Given the description of an element on the screen output the (x, y) to click on. 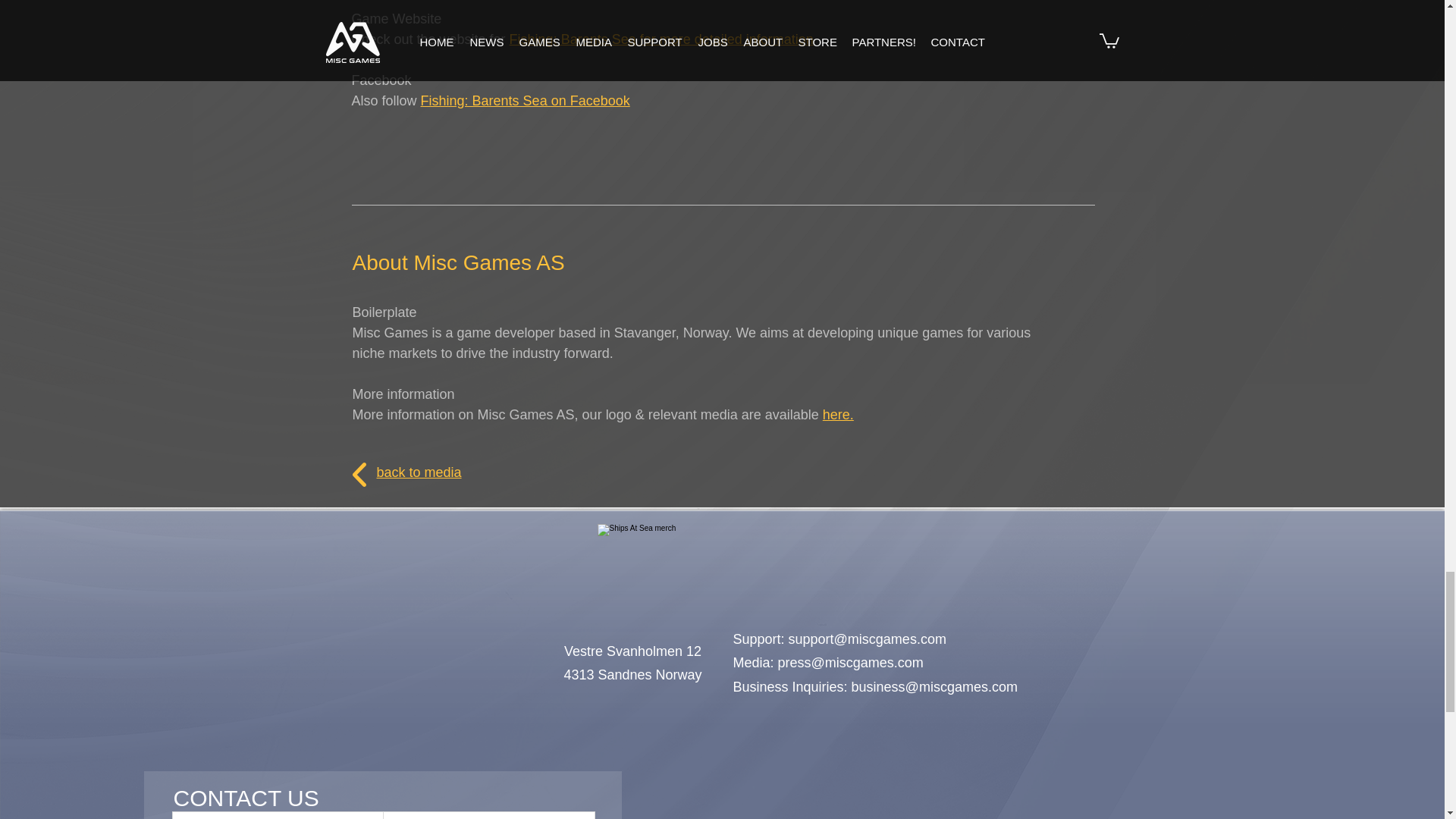
here. (837, 414)
back to media (418, 472)
Fishing: Barents Sea for more detailed information (661, 38)
Fishing: Barents Sea on Facebook (525, 100)
